Given the description of an element on the screen output the (x, y) to click on. 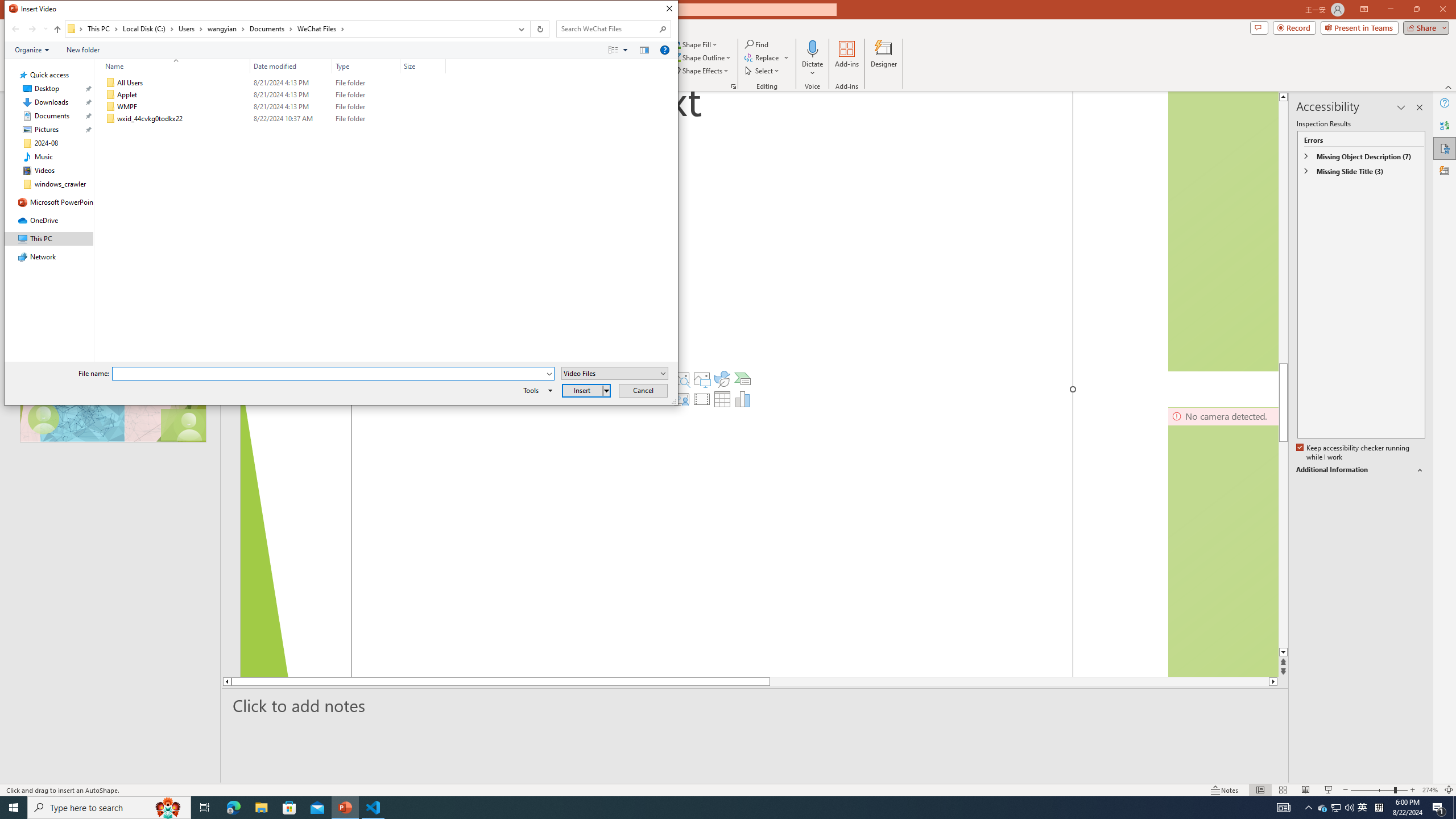
File name: (333, 373)
Views (620, 49)
Type (365, 65)
Back (Alt + Left Arrow) (15, 28)
Up to "Documents" (Alt + Up Arrow) (57, 29)
